Given the description of an element on the screen output the (x, y) to click on. 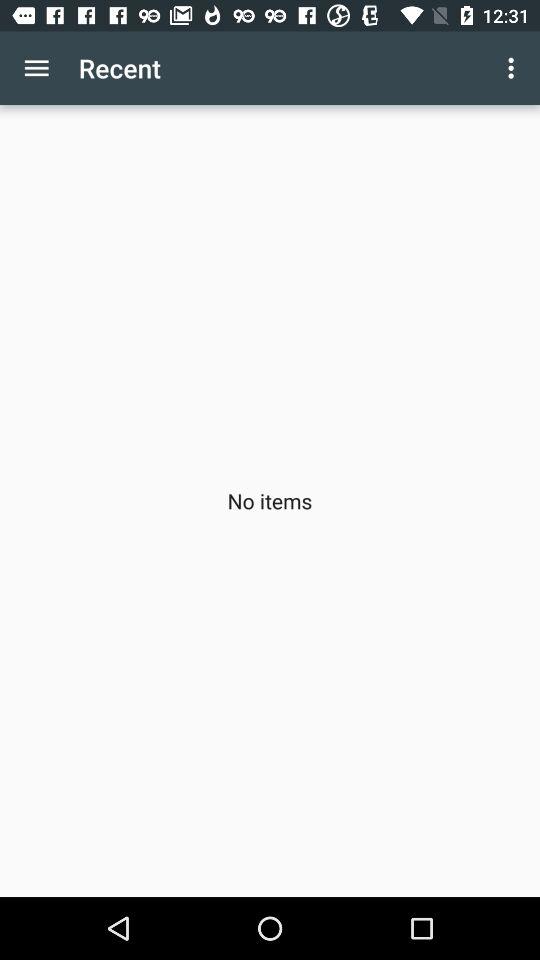
open the icon to the right of recent app (513, 67)
